Given the description of an element on the screen output the (x, y) to click on. 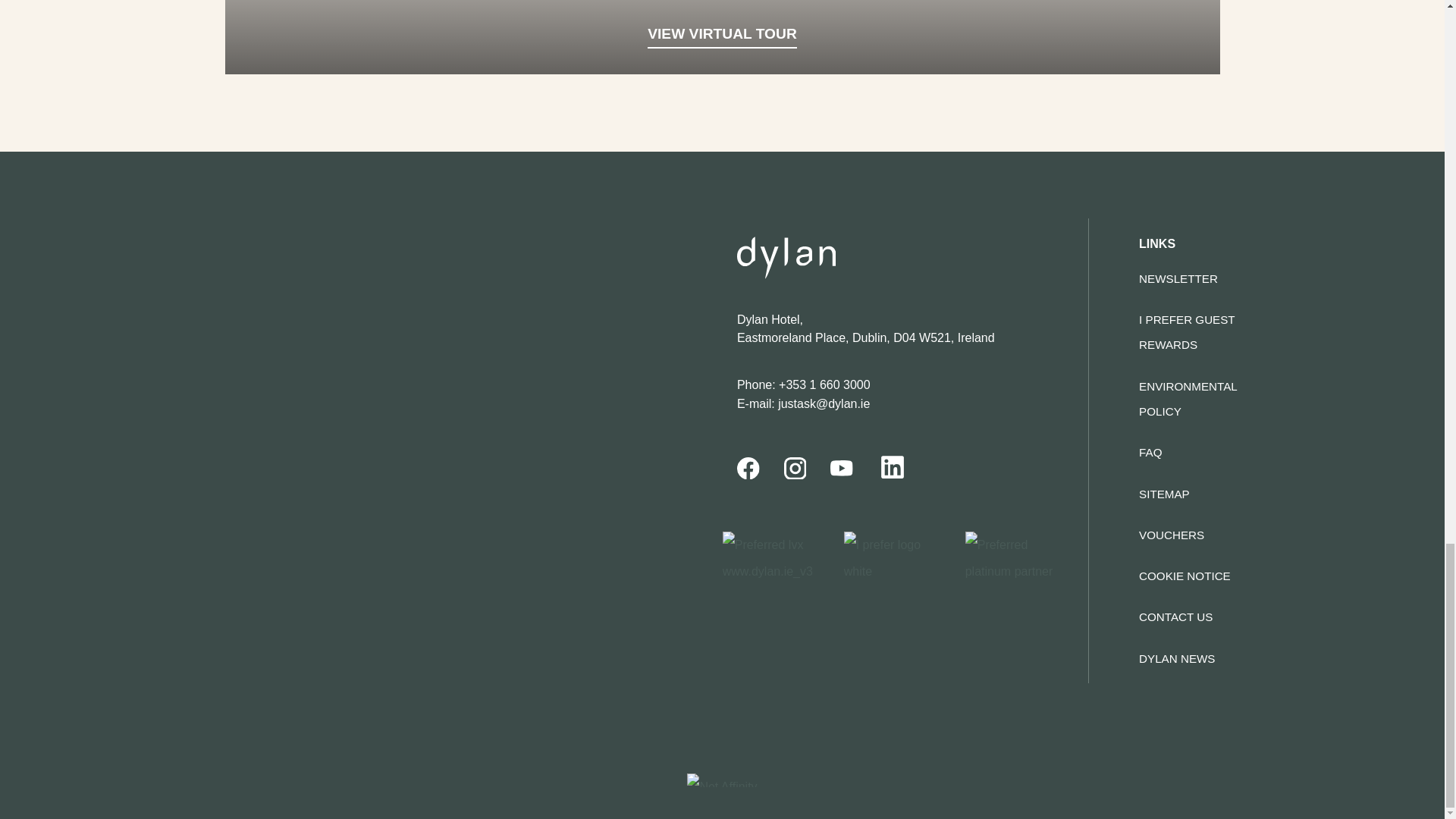
FAQ (1149, 451)
ENVIRONMENTAL POLICY (1187, 398)
I PREFER GUEST REWARDS (1186, 331)
VIEW VIRTUAL TOUR (721, 36)
NEWSLETTER (1177, 278)
